Given the description of an element on the screen output the (x, y) to click on. 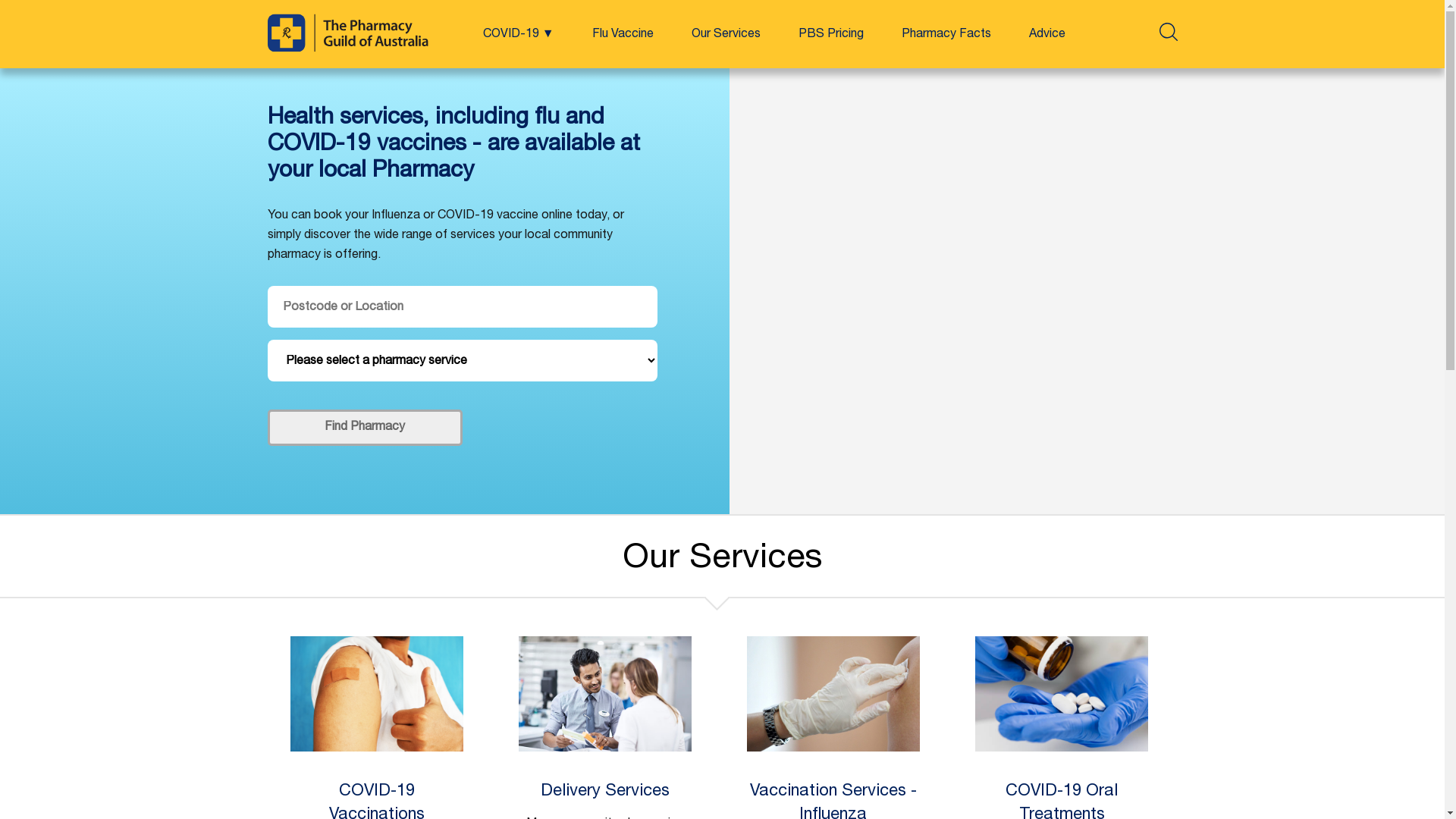
PBS Pricing Element type: text (829, 34)
Pharmacy Facts Element type: text (945, 34)
Find Pharmacy Element type: text (363, 427)
Flu Vaccine Element type: text (621, 34)
YouTube video player Element type: hover (1086, 291)
Advice Element type: text (1046, 34)
Our Services Element type: text (725, 34)
